Given the description of an element on the screen output the (x, y) to click on. 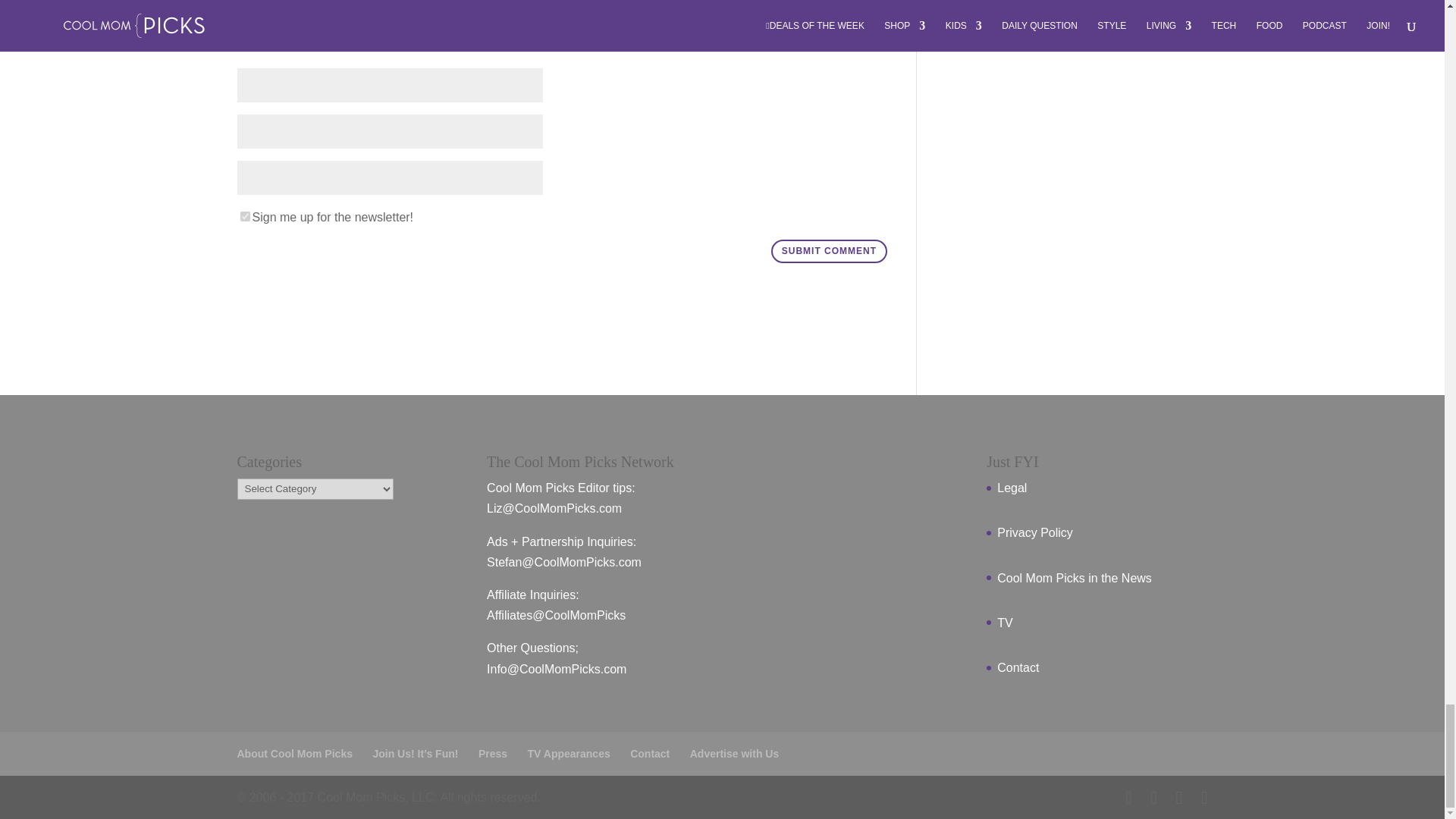
1 (244, 216)
About Cool Mom Picks (293, 753)
Submit Comment (828, 251)
